Given the description of an element on the screen output the (x, y) to click on. 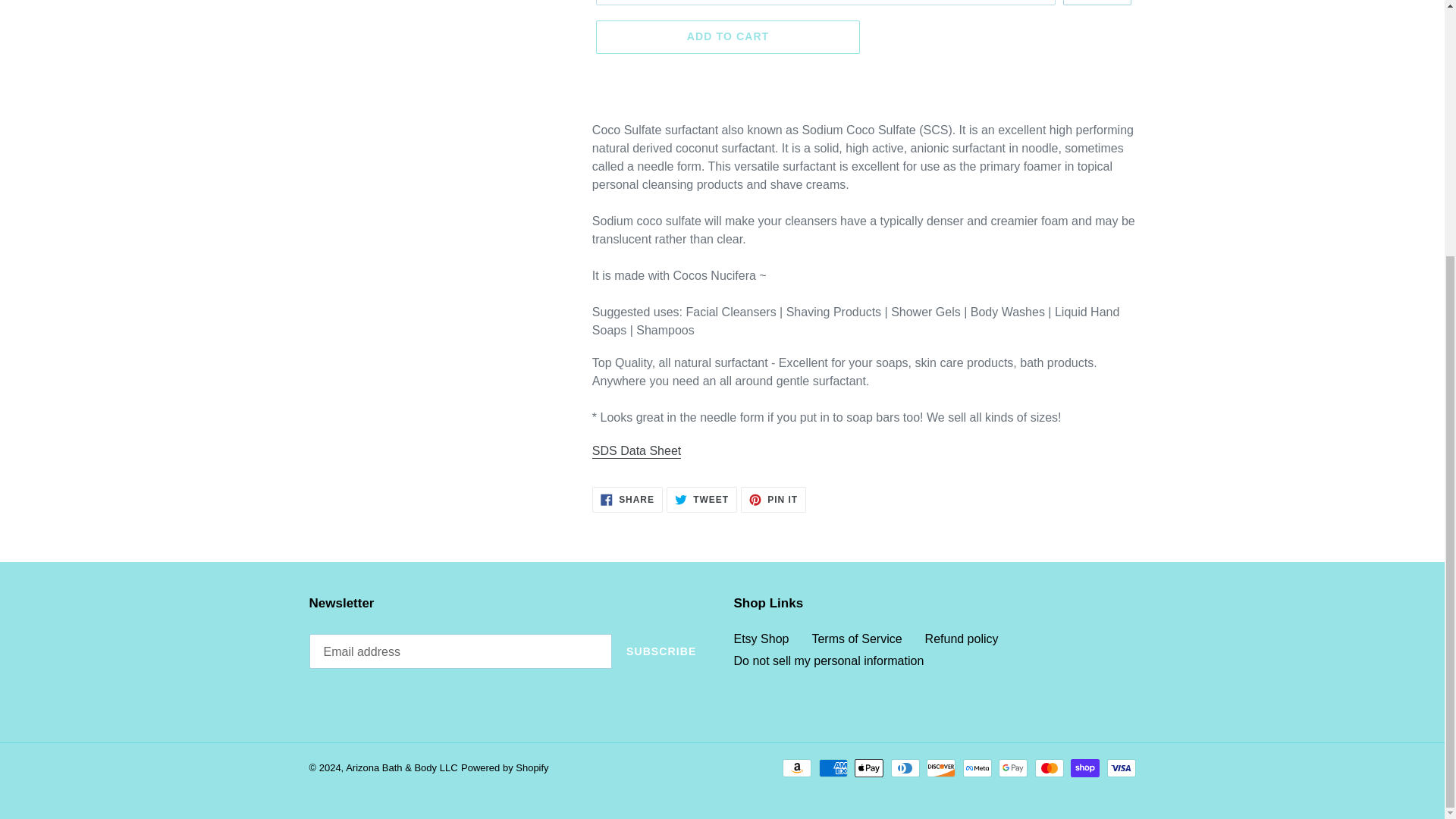
ADD TO CART (727, 37)
1 (1096, 2)
SDS Data Sheet (636, 451)
